Given the description of an element on the screen output the (x, y) to click on. 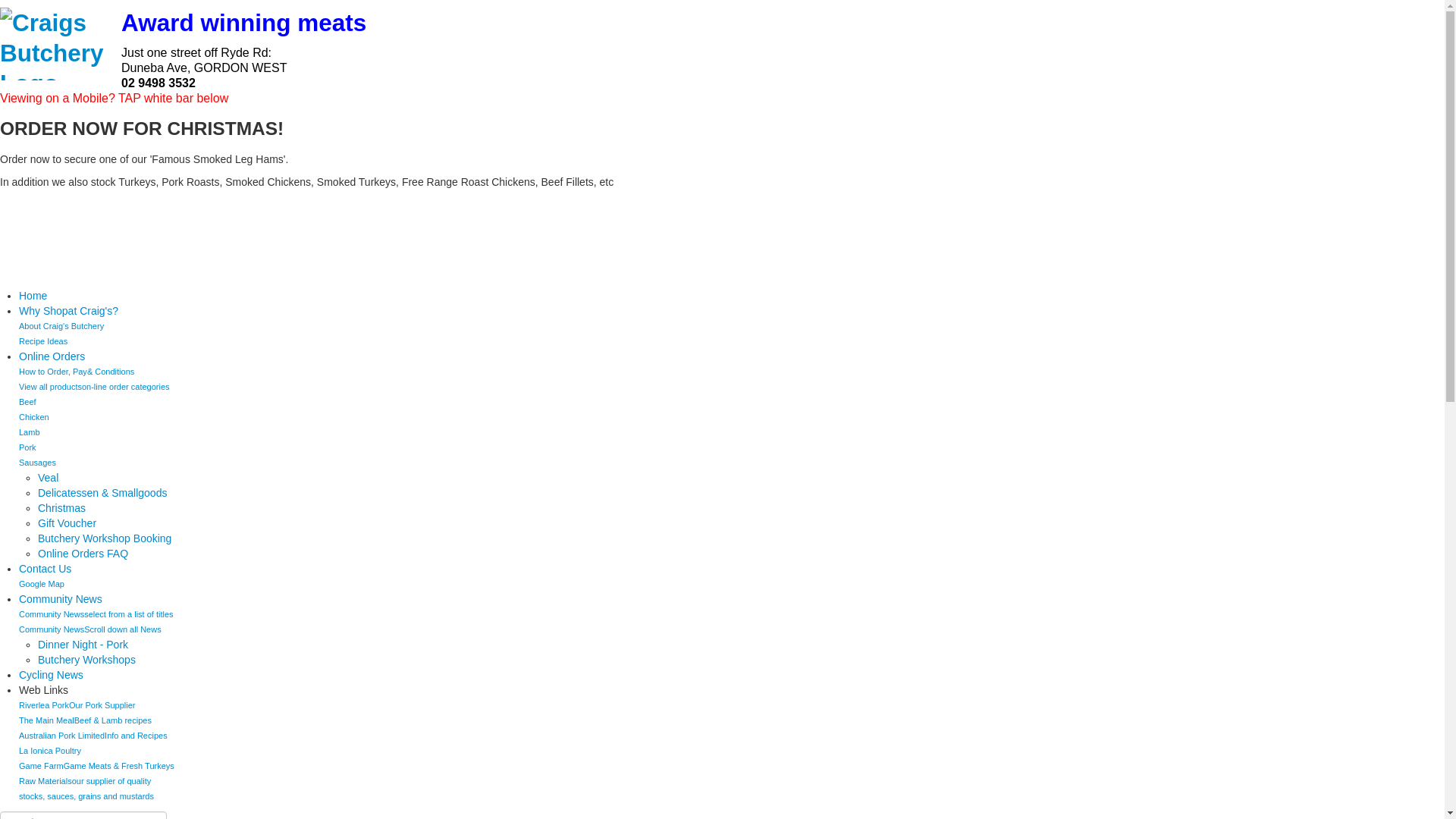
Australian Pork LimitedInfo and Recipes Element type: text (92, 735)
Lamb Element type: text (29, 431)
Pork Element type: text (27, 446)
View all productson-line order categories Element type: text (93, 386)
Butchery Workshop Booking Element type: text (104, 538)
Online Orders FAQ Element type: text (82, 553)
La Ionica Poultry Element type: text (49, 750)
Online Orders Element type: text (51, 356)
Game FarmGame Meats & Fresh Turkeys Element type: text (96, 765)
The Main MealBeef & Lamb recipes Element type: text (84, 719)
Butchery Workshops Element type: text (86, 659)
Why Shopat Craig's? Element type: text (68, 310)
Christmas Element type: text (61, 508)
Community News Element type: text (60, 599)
Dinner Night - Pork Element type: text (82, 644)
Chicken Element type: text (33, 416)
Gift Voucher Element type: text (66, 523)
Cycling News Element type: text (50, 674)
About Craig's Butchery Element type: text (60, 325)
Home Element type: text (32, 295)
Community Newsselect from a list of titles Element type: text (95, 613)
How to Order, Pay& Conditions Element type: text (76, 371)
Recipe Ideas Element type: text (42, 340)
Google Map Element type: text (41, 583)
Riverlea PorkOur Pork Supplier Element type: text (76, 704)
Contact Us Element type: text (44, 568)
Veal Element type: text (47, 477)
Sausages Element type: text (37, 462)
Delicatessen & Smallgoods Element type: text (101, 492)
Community NewsScroll down all News Element type: text (89, 628)
Beef Element type: text (27, 401)
